Given the description of an element on the screen output the (x, y) to click on. 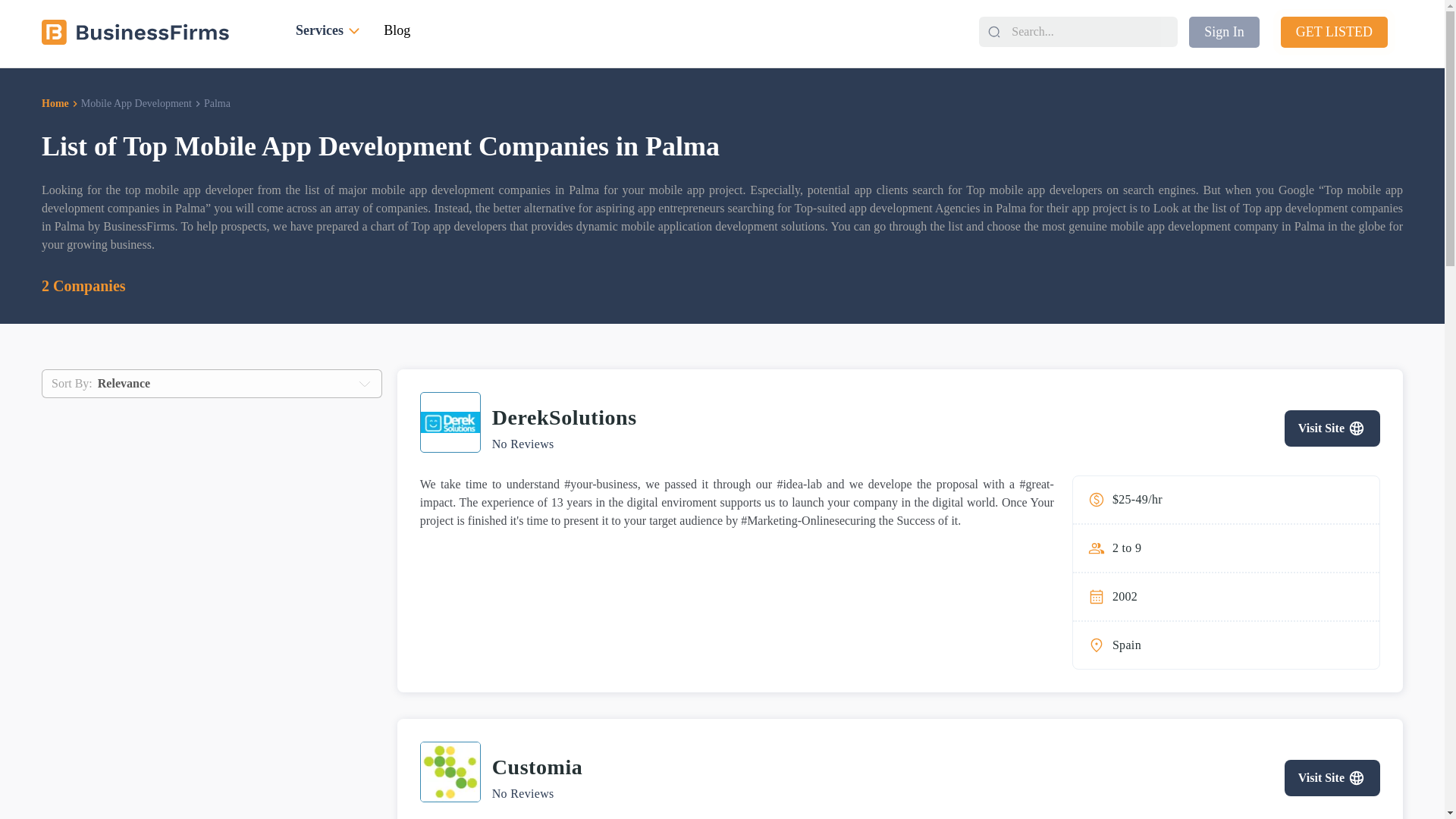
Sign In (1224, 31)
Home (55, 102)
Sign In (1232, 31)
Blog (397, 29)
GET LISTED (1342, 31)
GET LISTED (1334, 31)
Mobile App Development (136, 102)
Sort By: Relevance (211, 383)
Services (330, 31)
